Given the description of an element on the screen output the (x, y) to click on. 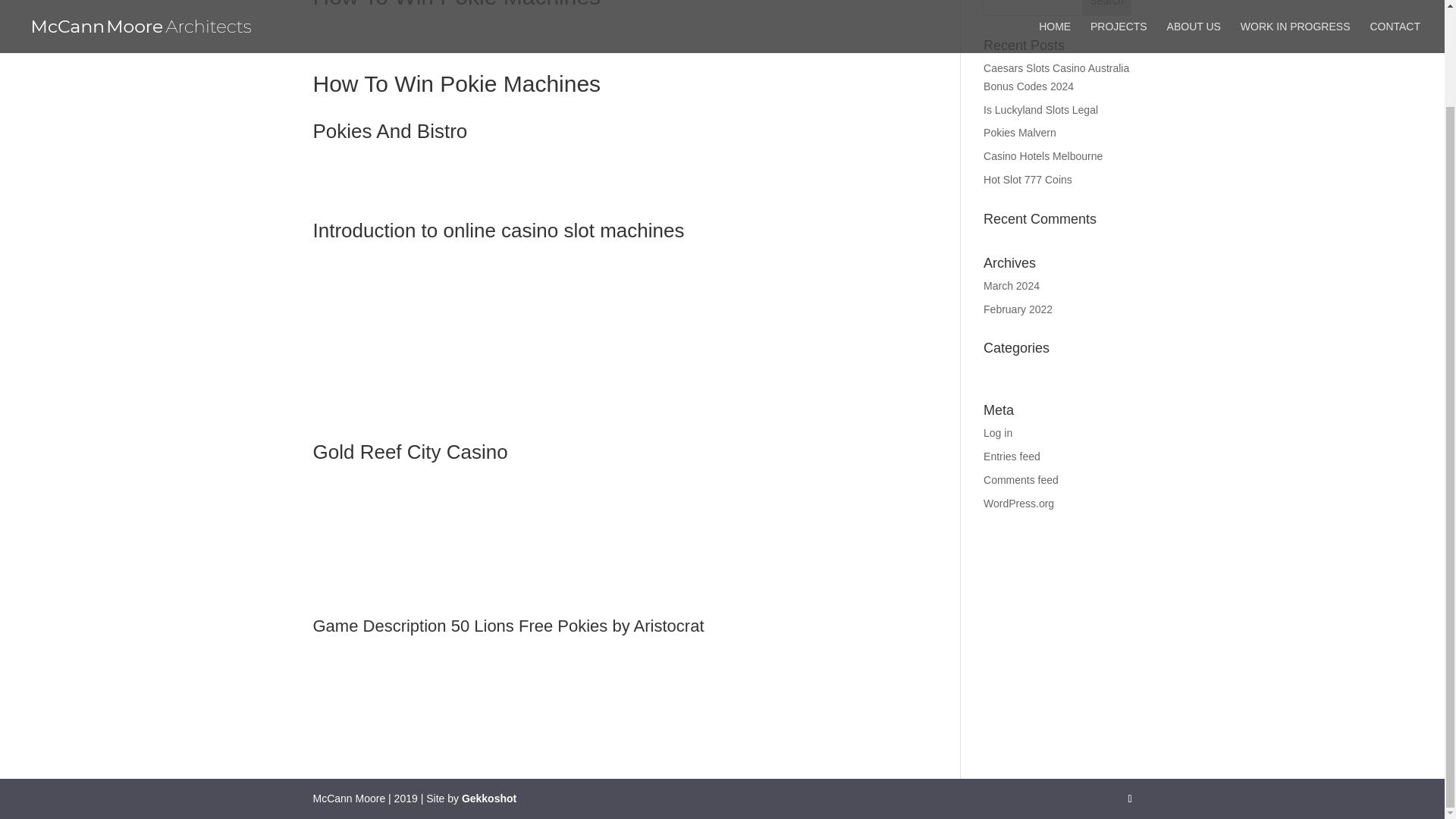
Entries feed (1012, 456)
Hot Slot 777 Coins (1027, 179)
Casino Hotels Melbourne (1043, 155)
March 2024 (1011, 285)
WordPress.org (1019, 503)
Is Luckyland Slots Legal (1040, 110)
Log in (997, 432)
Pokies Malvern (1020, 132)
February 2022 (1018, 309)
Comments feed (1021, 480)
